Given the description of an element on the screen output the (x, y) to click on. 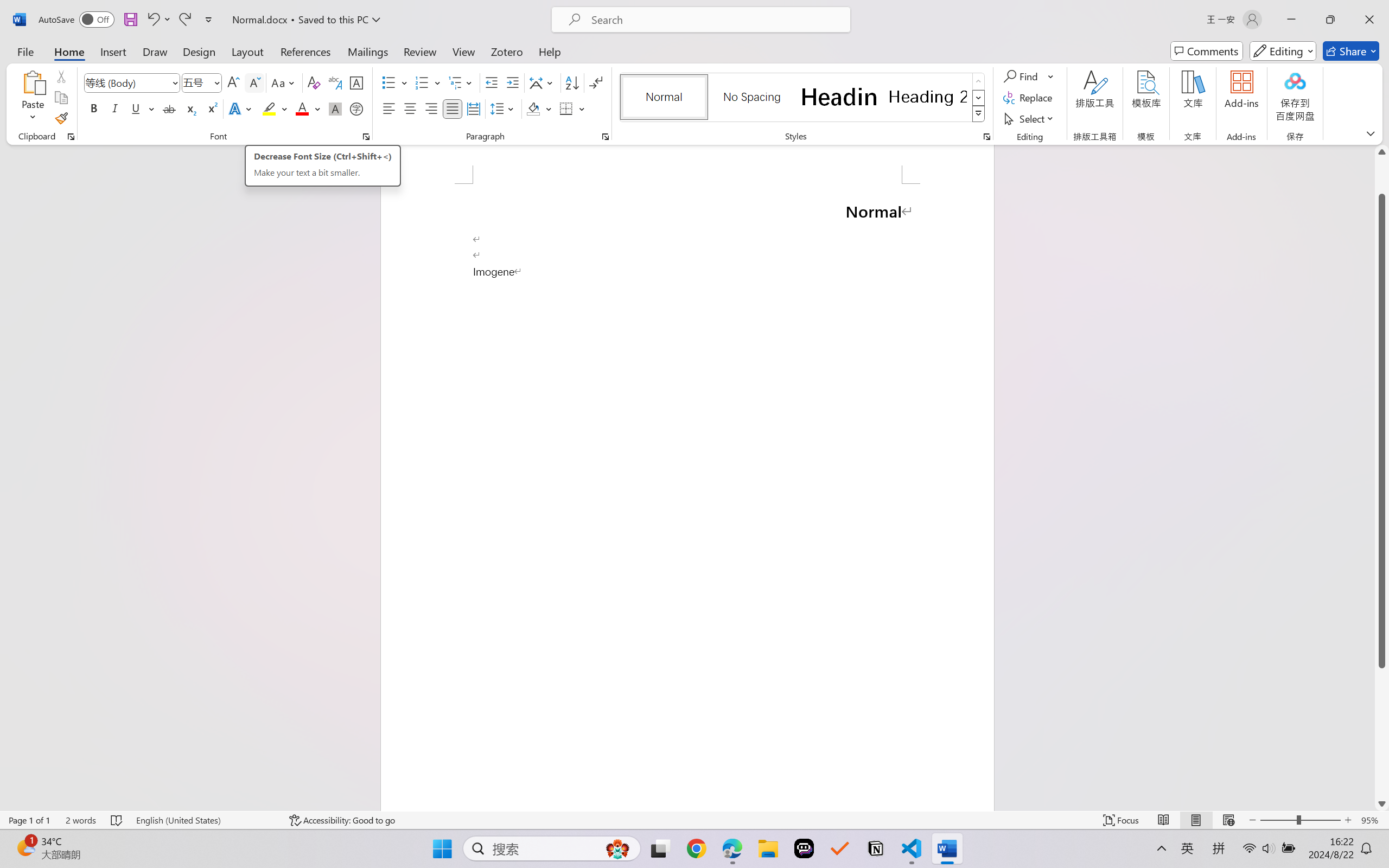
Copy (60, 97)
Center (409, 108)
Page up (1382, 175)
Undo Typing (152, 19)
Redo Style (184, 19)
Character Shading (334, 108)
Shading (539, 108)
Heading 2 (927, 96)
